Given the description of an element on the screen output the (x, y) to click on. 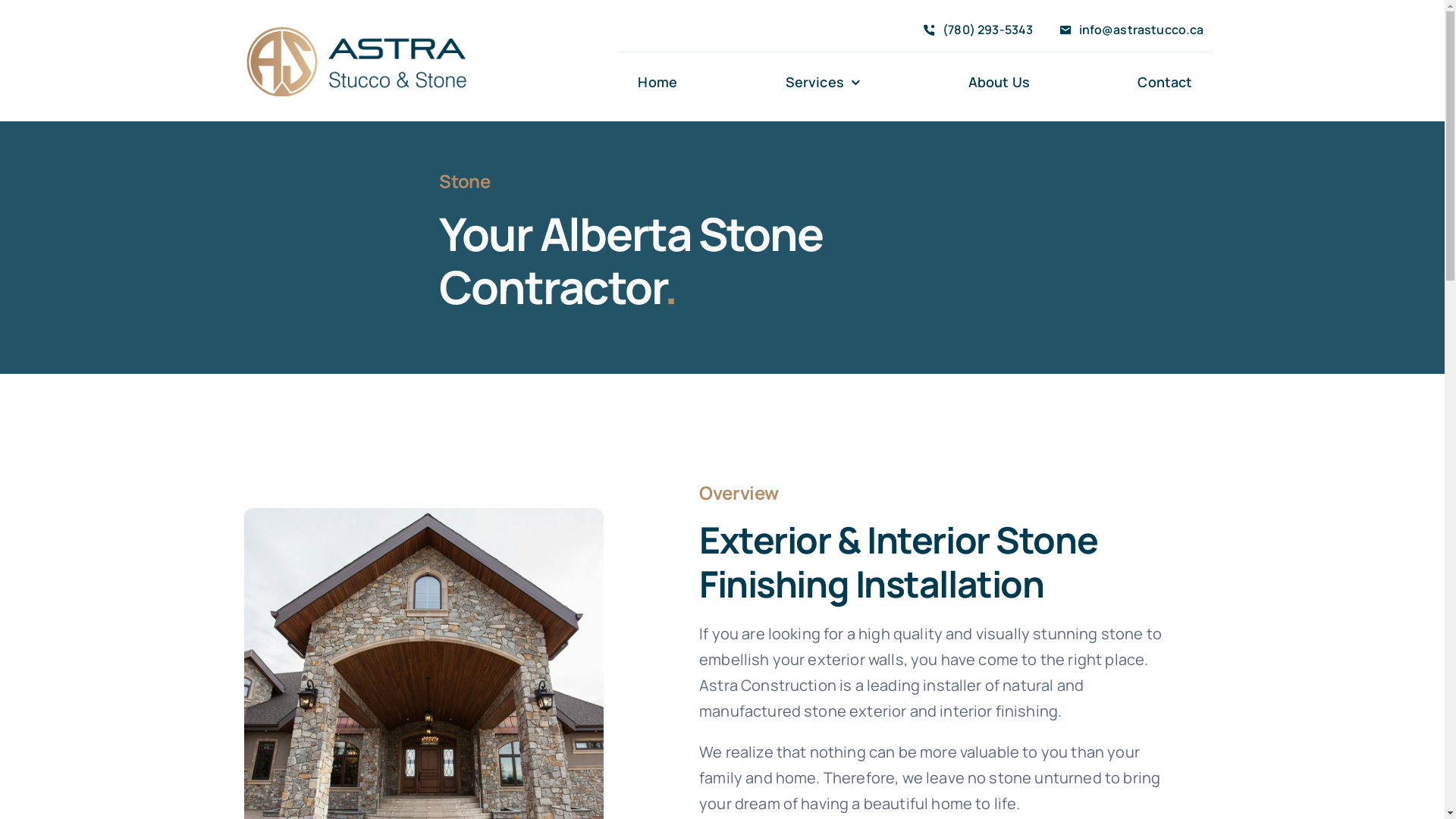
Services Element type: text (822, 82)
Home Element type: text (657, 82)
About Us Element type: text (998, 82)
info@astrastucco.ca Element type: text (1127, 30)
(780) 293-5343 Element type: text (974, 30)
Contact Element type: text (1164, 82)
